Given the description of an element on the screen output the (x, y) to click on. 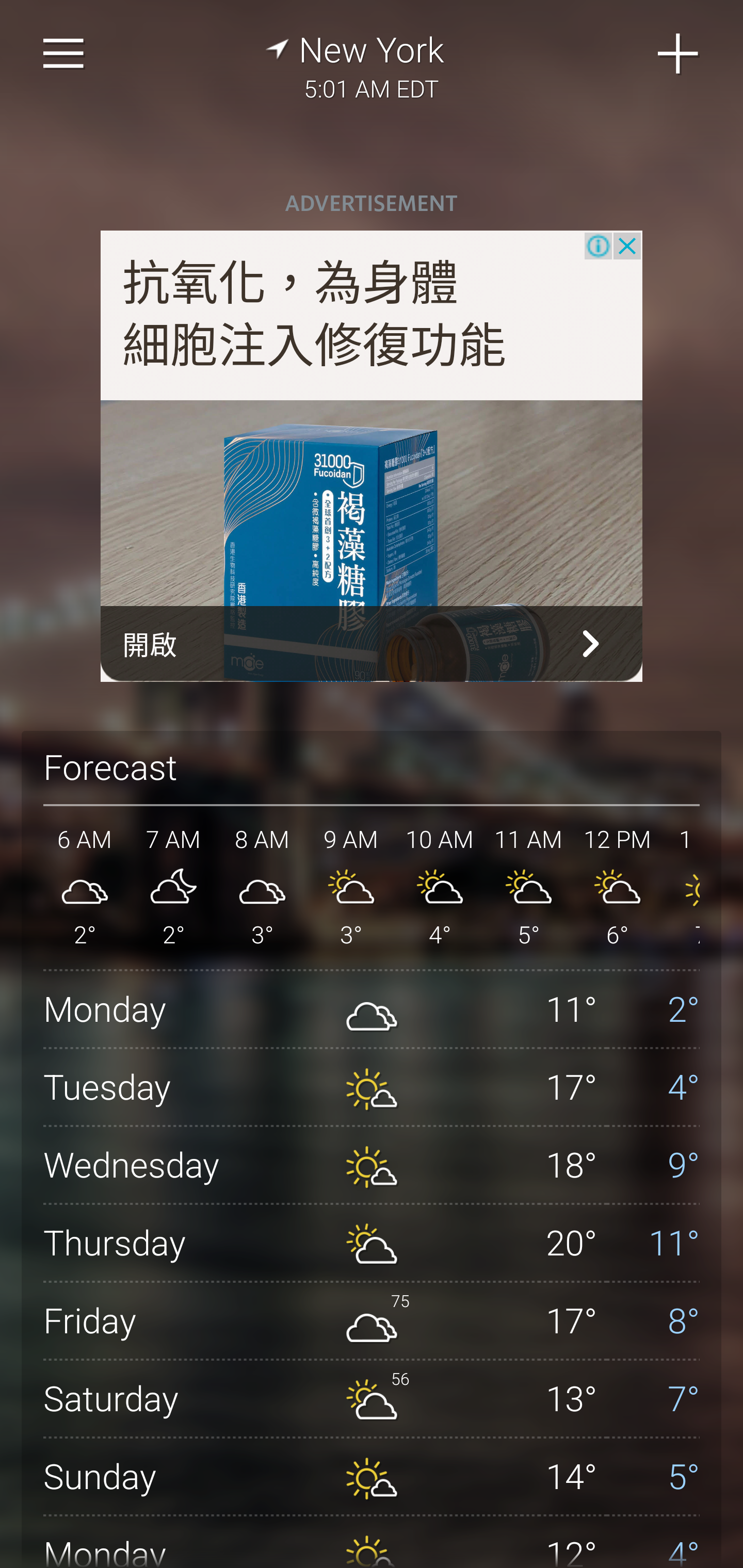
Sidebar (64, 54)
Add City (678, 53)
抗氧化，為身體 細胞注入修復功能 抗氧化，為身體 
 細胞注入修復功能 (314, 314)
開啟 (371, 644)
